Given the description of an element on the screen output the (x, y) to click on. 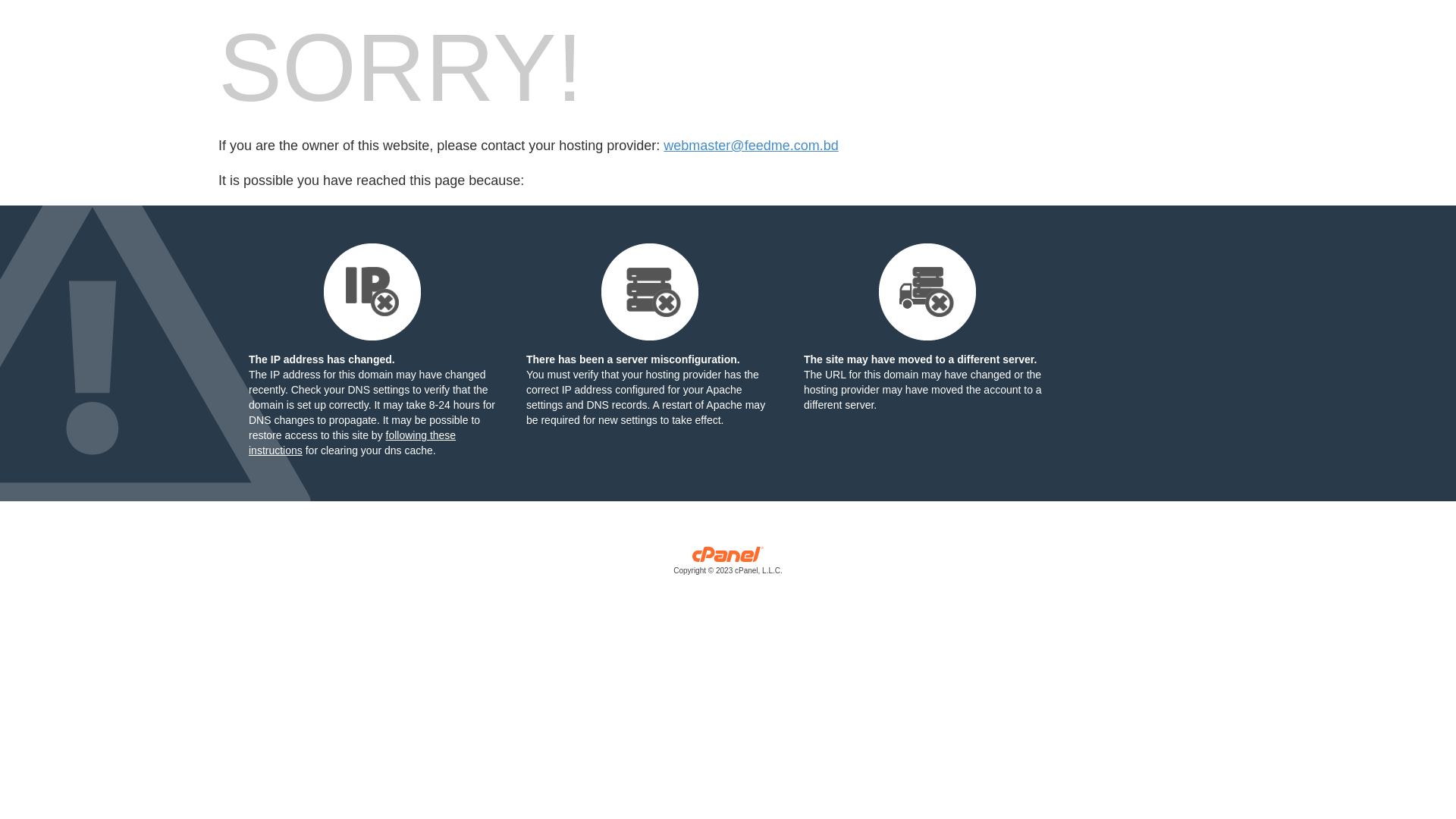
webmaster@feedme.com.bd Element type: text (750, 145)
following these instructions Element type: text (351, 442)
